Given the description of an element on the screen output the (x, y) to click on. 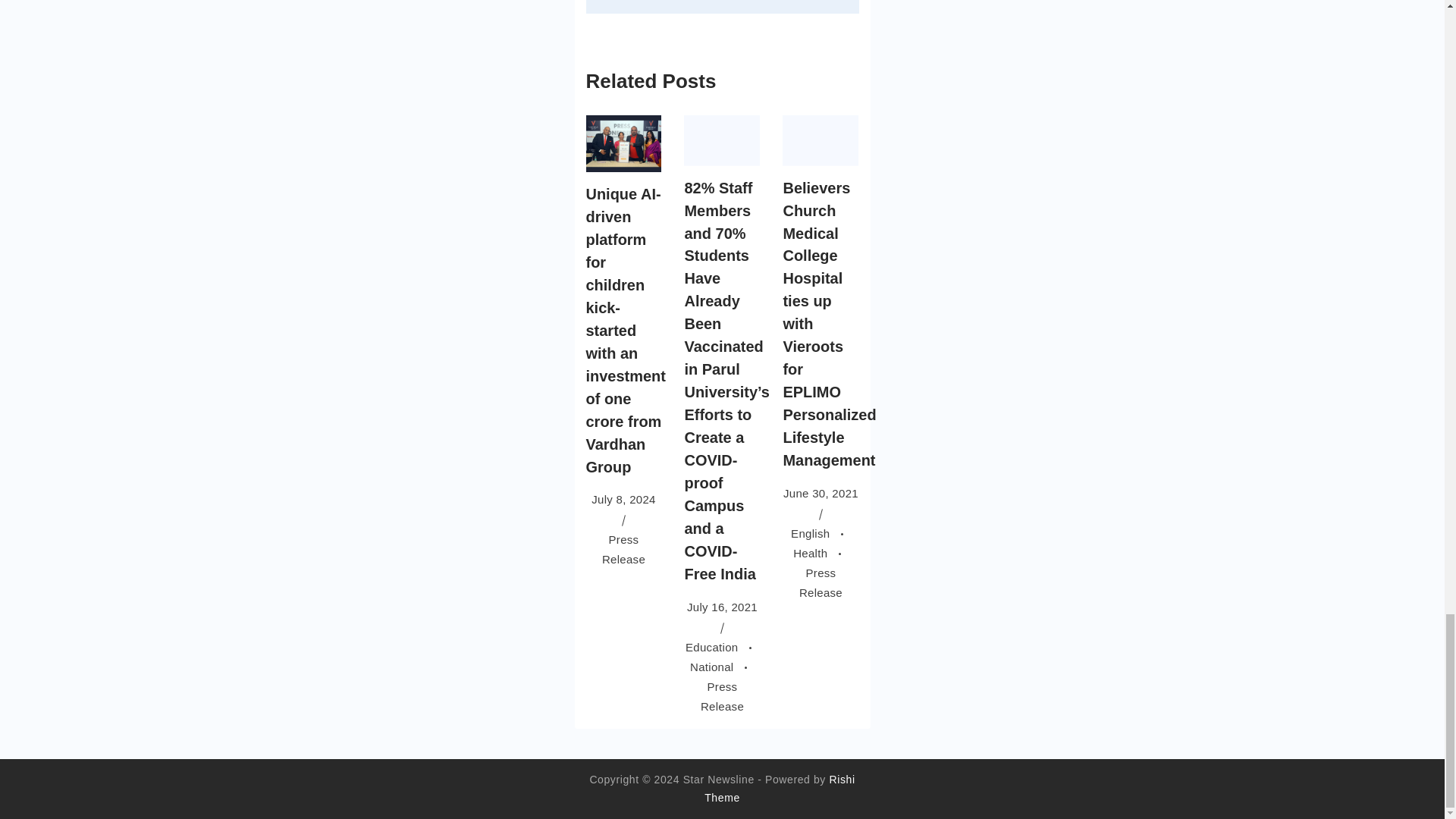
Press Release (623, 549)
Press Release (722, 696)
National (722, 666)
Education (721, 646)
